Given the description of an element on the screen output the (x, y) to click on. 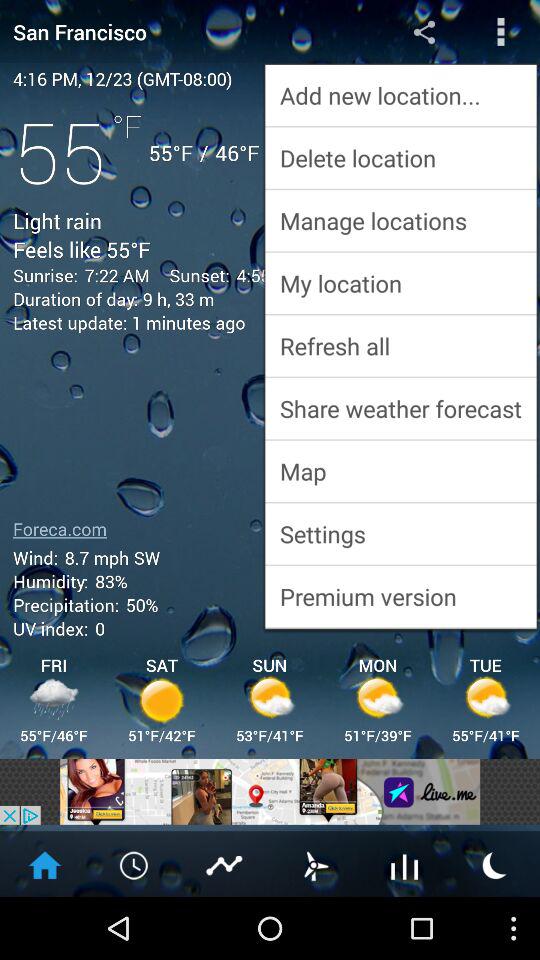
scroll to the refresh all icon (400, 345)
